Given the description of an element on the screen output the (x, y) to click on. 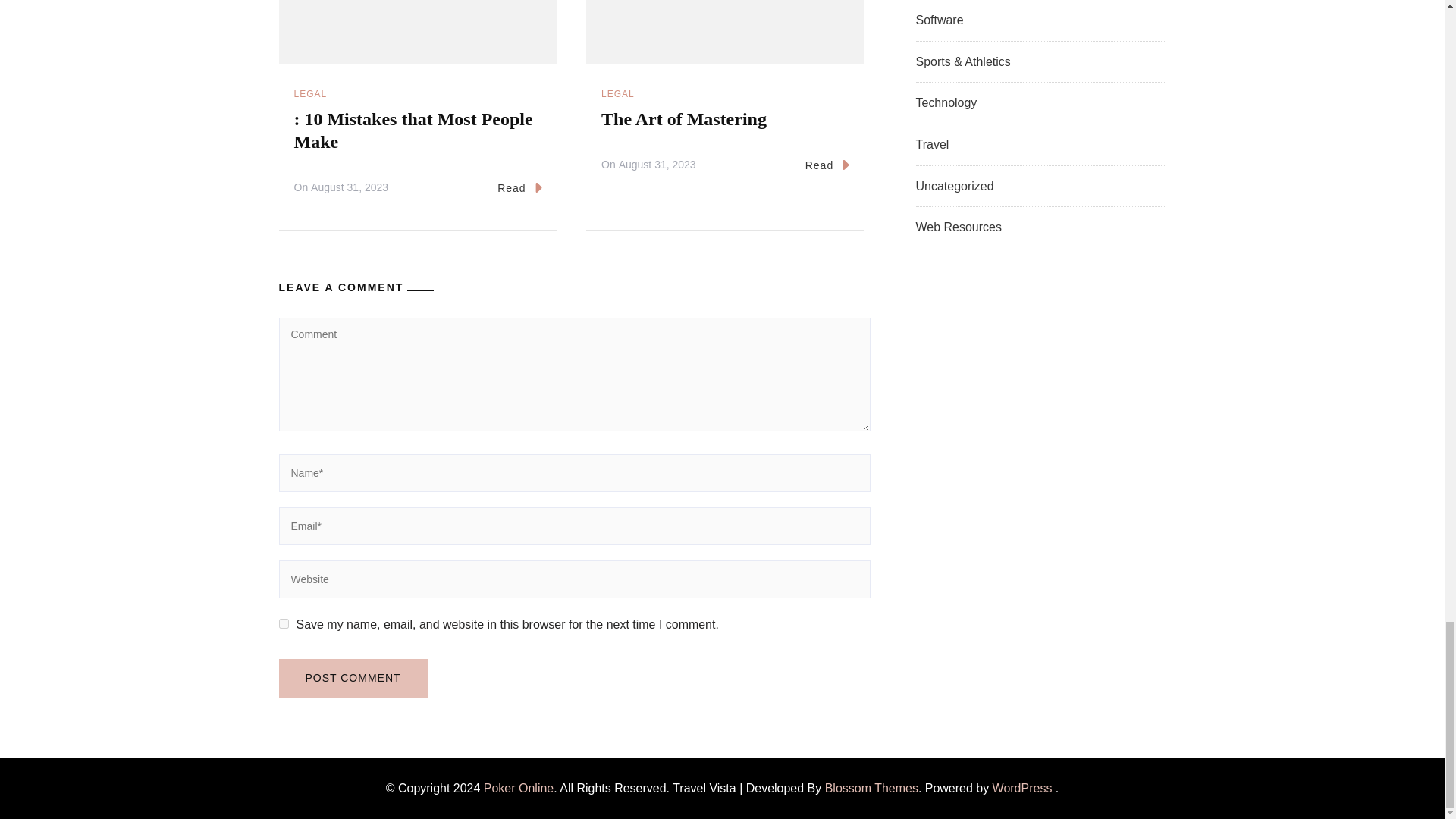
Read (519, 188)
LEGAL (617, 94)
yes (283, 623)
The Art of Mastering (684, 118)
Post Comment (353, 678)
Post Comment (353, 678)
: 10 Mistakes that Most People Make (413, 129)
August 31, 2023 (349, 187)
August 31, 2023 (656, 164)
Read (826, 165)
LEGAL (310, 94)
